Given the description of an element on the screen output the (x, y) to click on. 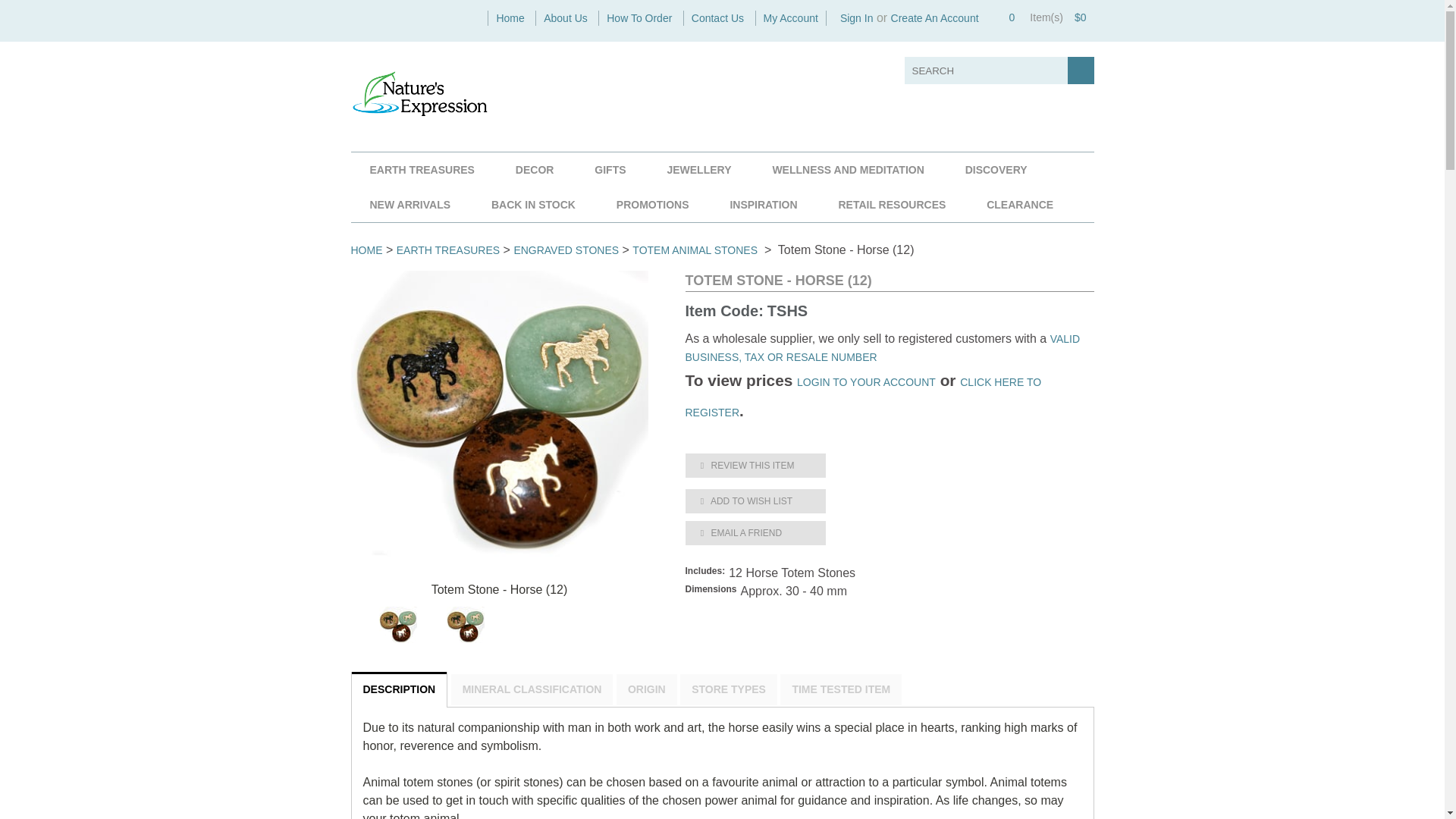
What is a Business Number? (882, 347)
